Given the description of an element on the screen output the (x, y) to click on. 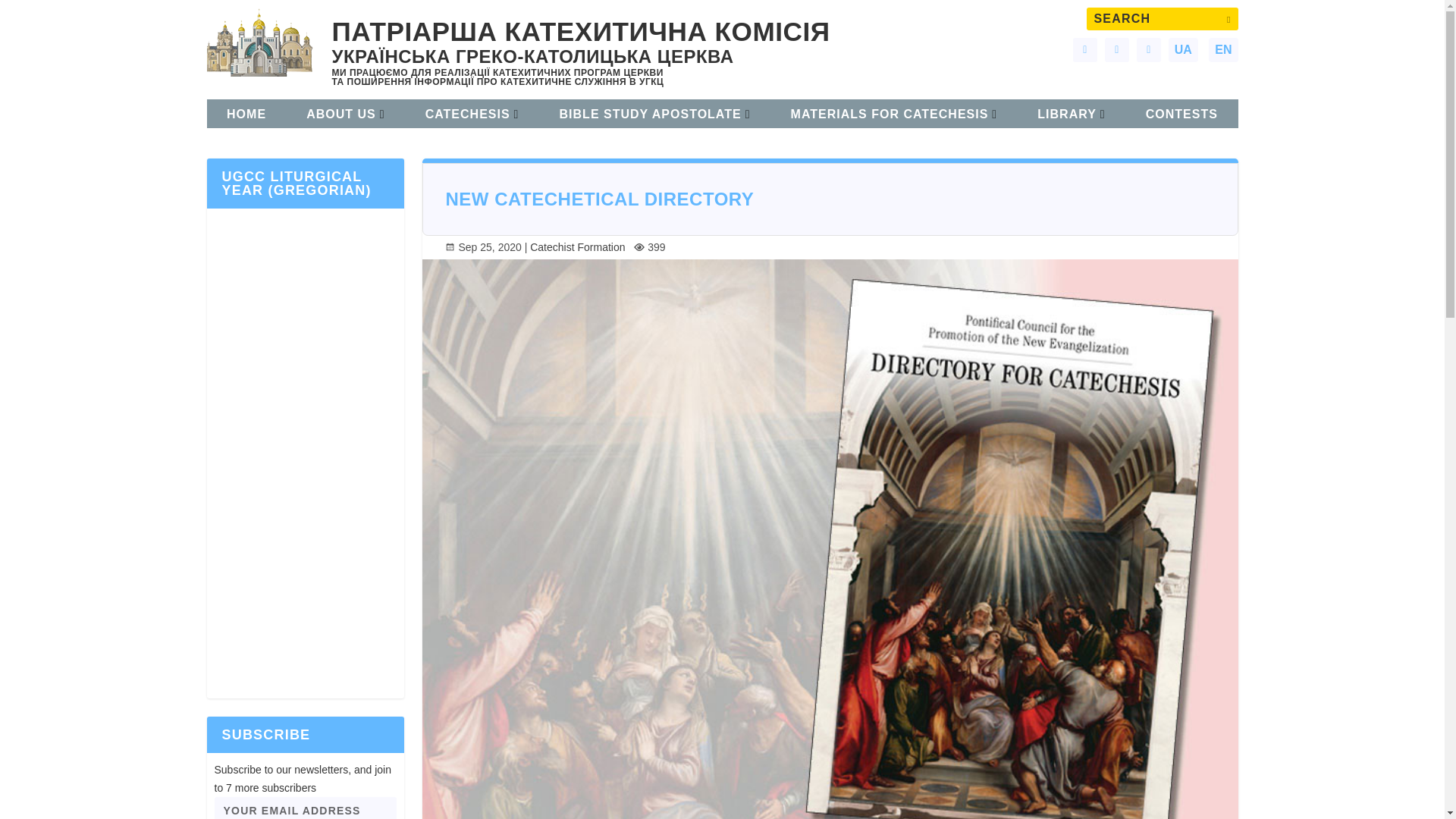
BIBLE STUDY APOSTOLATE (655, 114)
MATERIALS FOR CATECHESIS (893, 114)
Search for: (1161, 18)
HOME (246, 114)
UA (1183, 49)
ABOUT US (344, 114)
CATECHESIS (472, 114)
EN (1222, 49)
